Given the description of an element on the screen output the (x, y) to click on. 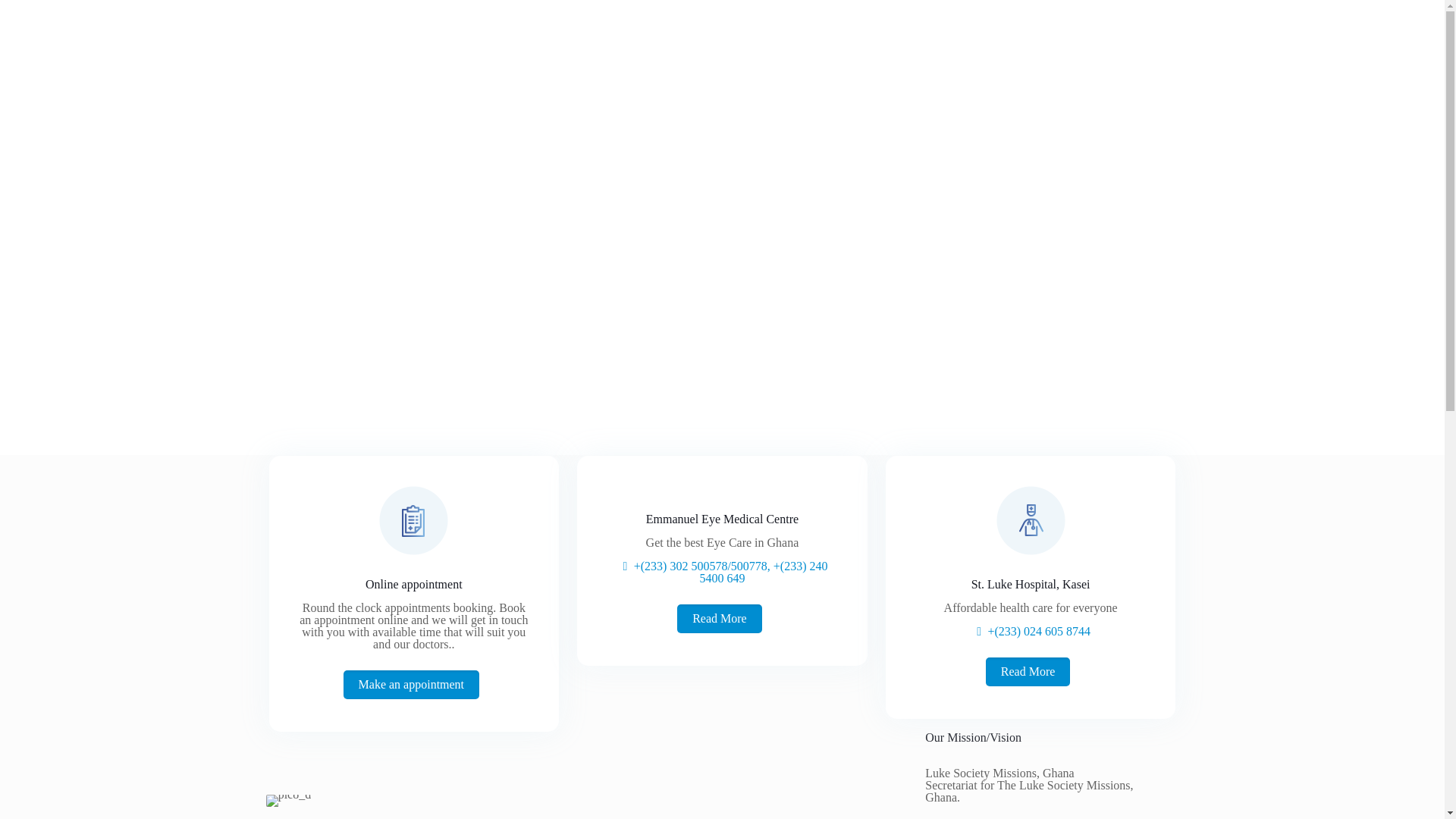
Read More (1027, 671)
Read More (719, 618)
Make an appointment (411, 684)
